Given the description of an element on the screen output the (x, y) to click on. 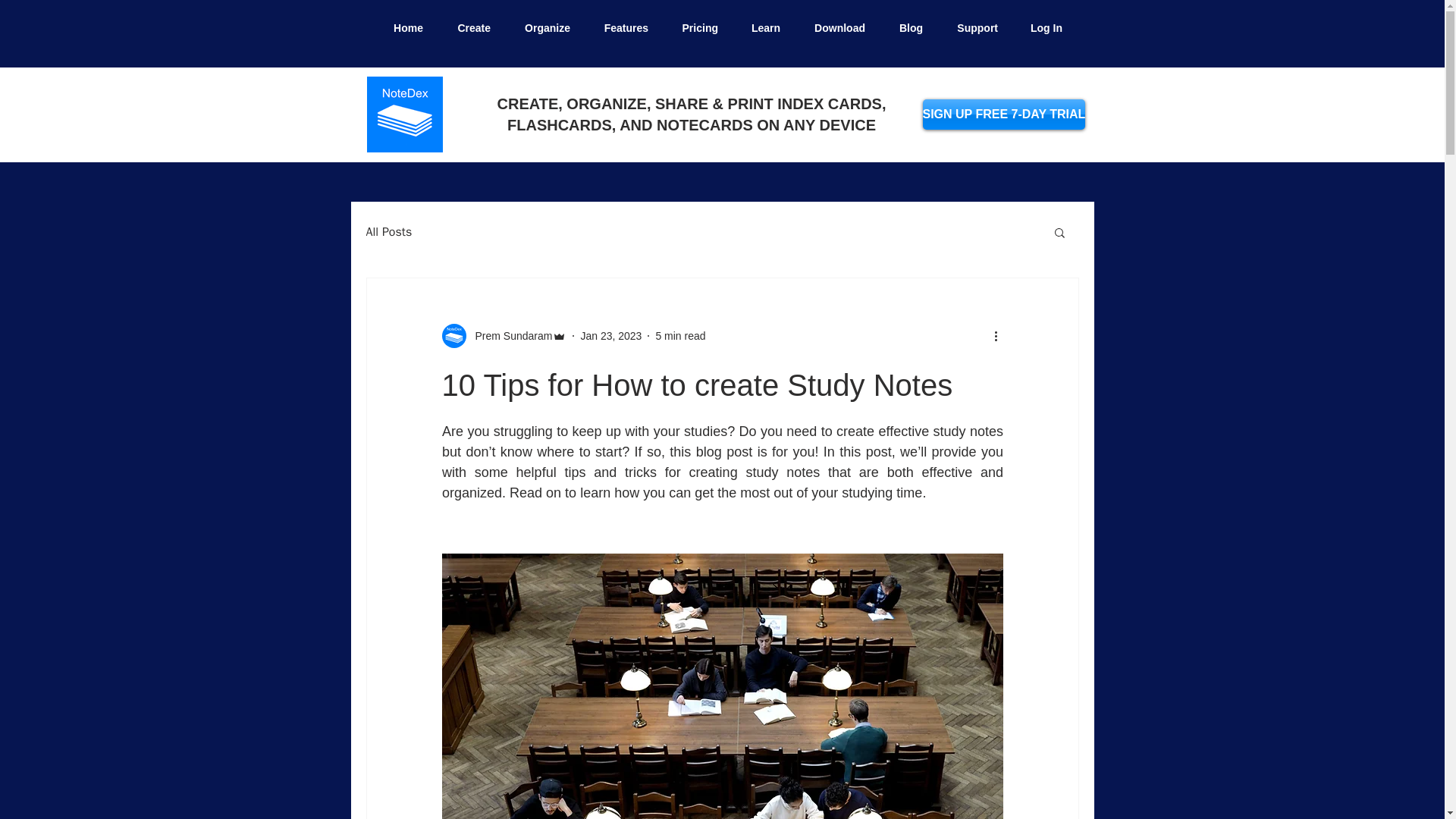
Pricing (694, 27)
Create (467, 27)
Prem Sundaram (508, 335)
Home (402, 27)
Download (834, 27)
Features (619, 27)
5 min read (679, 335)
Jan 23, 2023 (610, 335)
Learn (760, 27)
Blog (905, 27)
Organize (541, 27)
Support (971, 27)
